Given the description of an element on the screen output the (x, y) to click on. 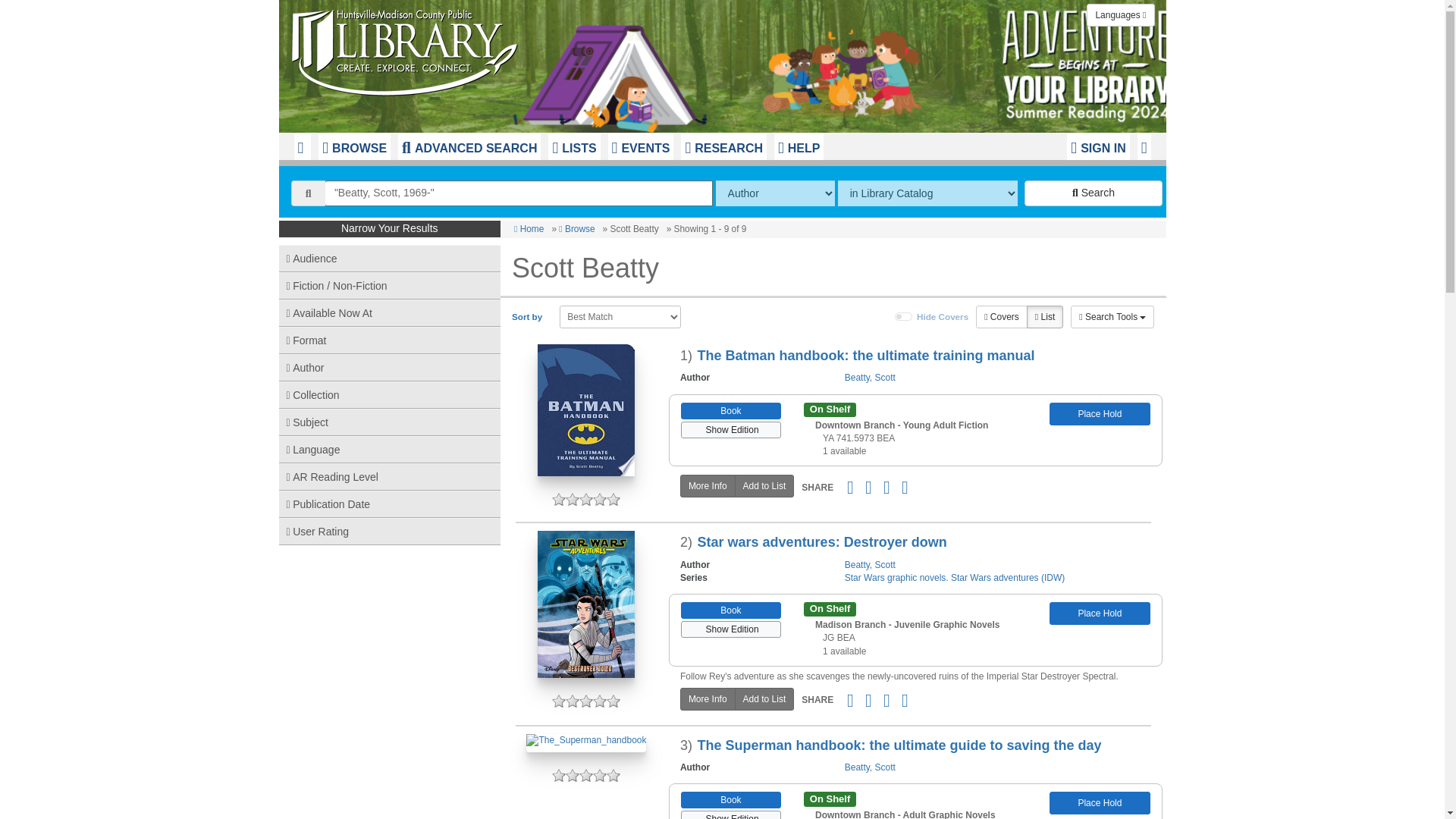
Login (1098, 145)
on (903, 316)
EVENTS (641, 145)
ADVANCED SEARCH (468, 145)
LISTS (573, 145)
RESEARCH (724, 145)
HELP (799, 145)
"Beatty, Scott, 1969-" (518, 193)
The method of searching. (775, 193)
 Search (1093, 193)
